Given the description of an element on the screen output the (x, y) to click on. 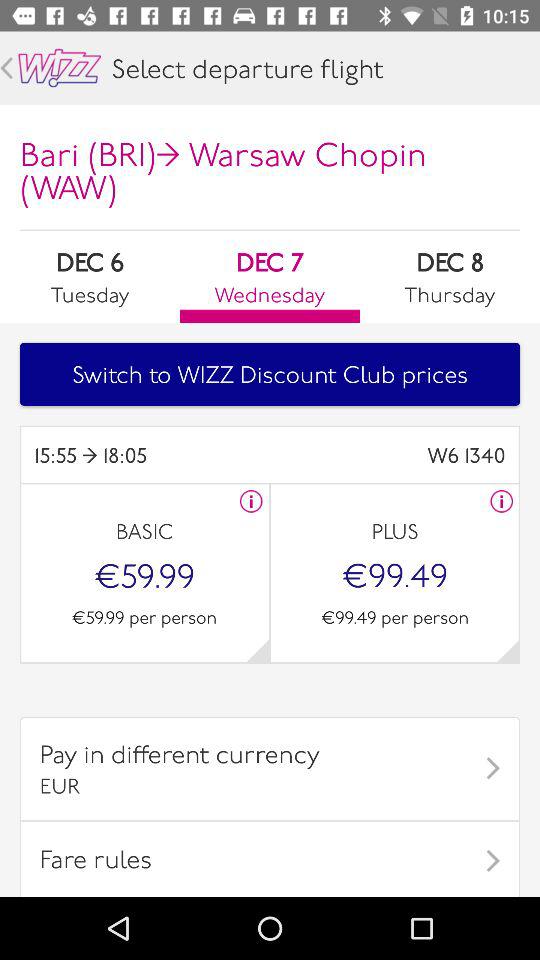
flip to switch to wizz icon (269, 373)
